Given the description of an element on the screen output the (x, y) to click on. 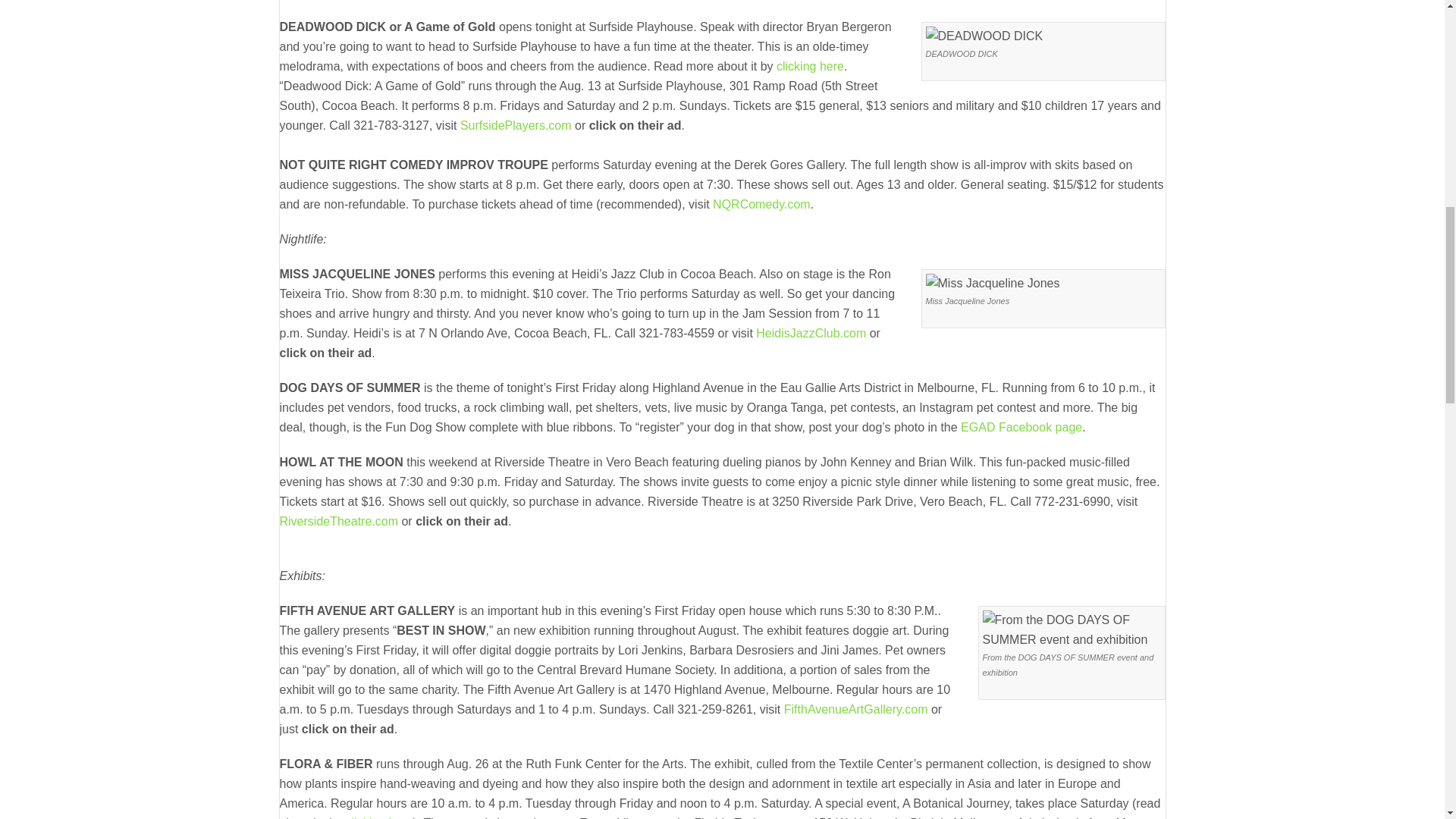
FifthAvenueArtGallery.com (856, 708)
clicking here (810, 65)
HeidisJazzClub.com (810, 332)
RiversideTheatre.com (338, 521)
EGAD Facebook page (1020, 427)
SurfsidePlayers.com (516, 124)
NQRComedy.com (761, 204)
clicking here (379, 817)
